Given the description of an element on the screen output the (x, y) to click on. 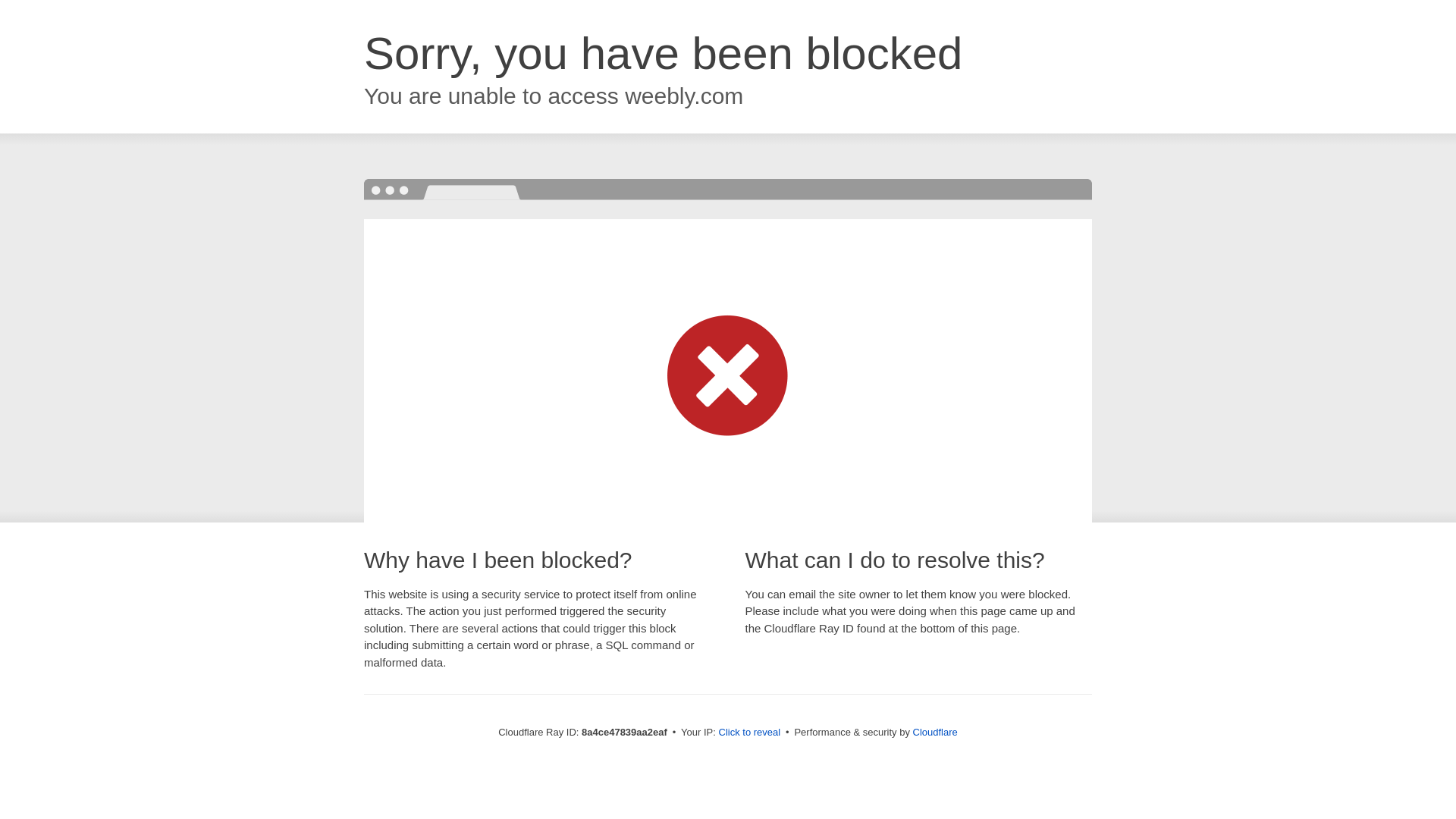
Click to reveal (749, 732)
Cloudflare (935, 731)
